Given the description of an element on the screen output the (x, y) to click on. 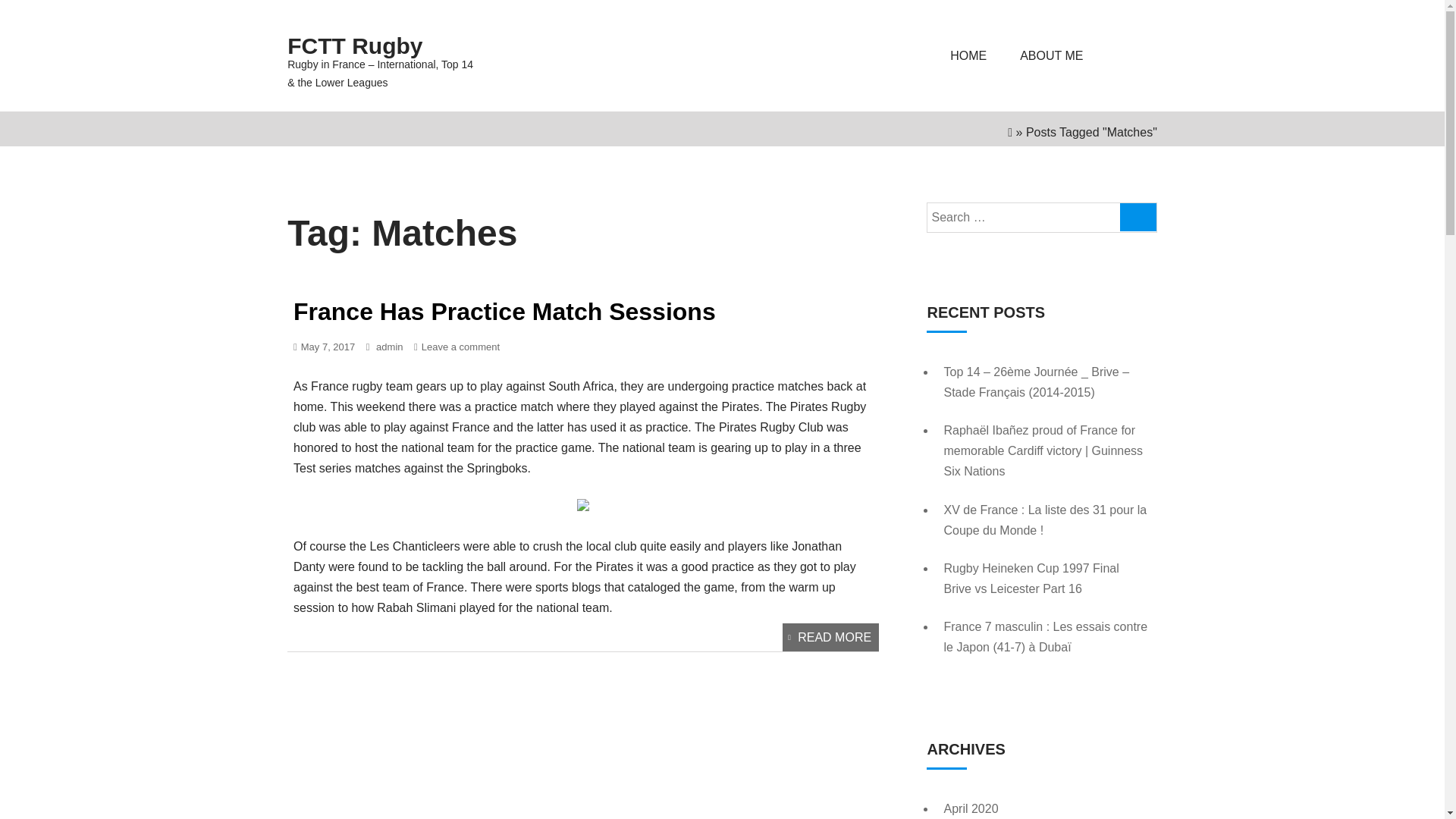
XV de France : La liste des 31 pour la Coupe du Monde ! (1045, 520)
Search (1132, 52)
Rugby Heineken Cup 1997 Final Brive vs Leicester Part 16 (1030, 578)
Search (1137, 216)
admin (384, 346)
Search (1132, 52)
April 2020 (970, 808)
Leave a comment (460, 346)
FCTT Rugby (388, 45)
France Has Practice Match Sessions (505, 311)
